Given the description of an element on the screen output the (x, y) to click on. 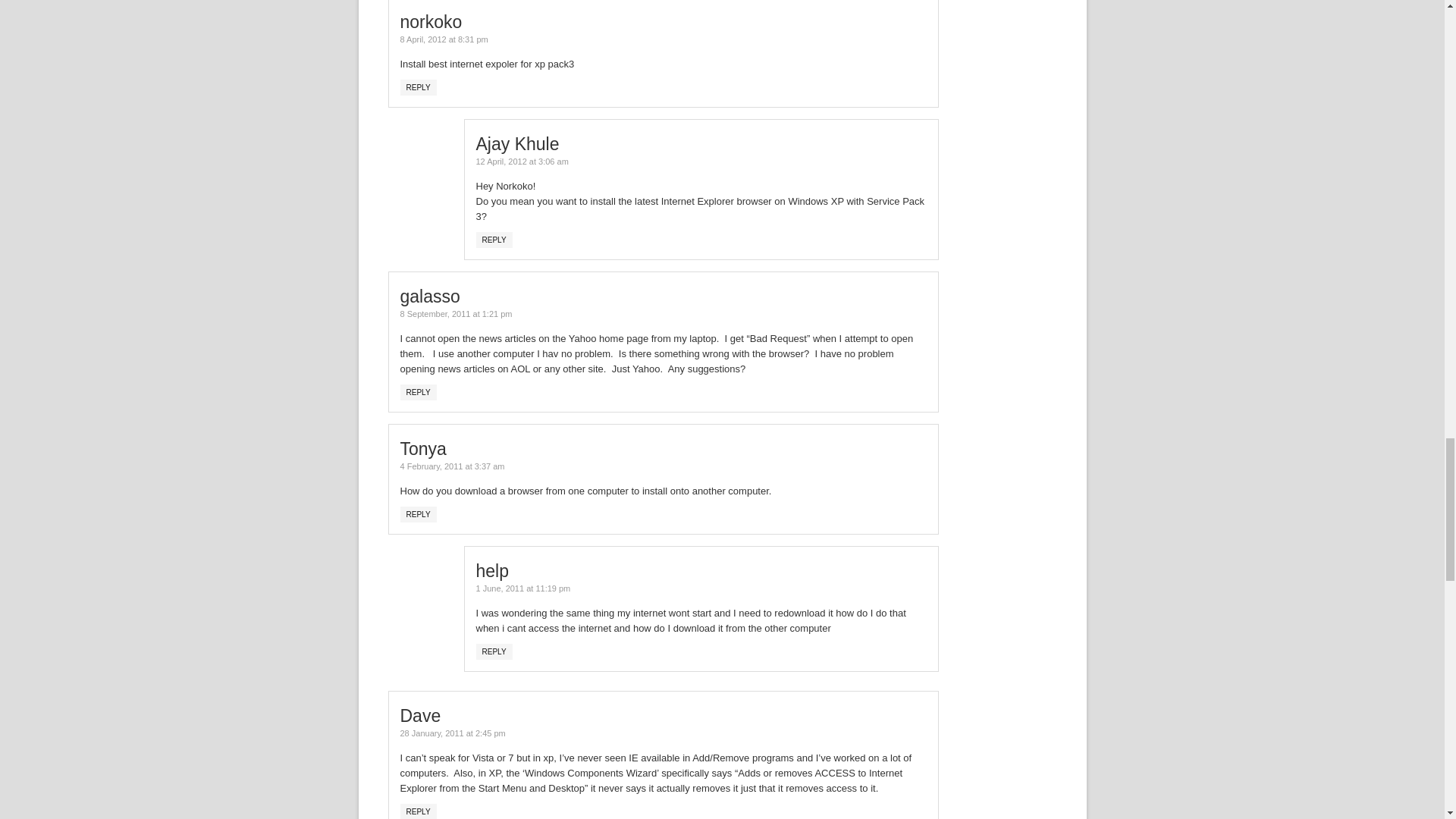
REPLY (494, 651)
REPLY (418, 87)
REPLY (418, 811)
REPLY (494, 239)
REPLY (418, 514)
REPLY (418, 392)
